Given the description of an element on the screen output the (x, y) to click on. 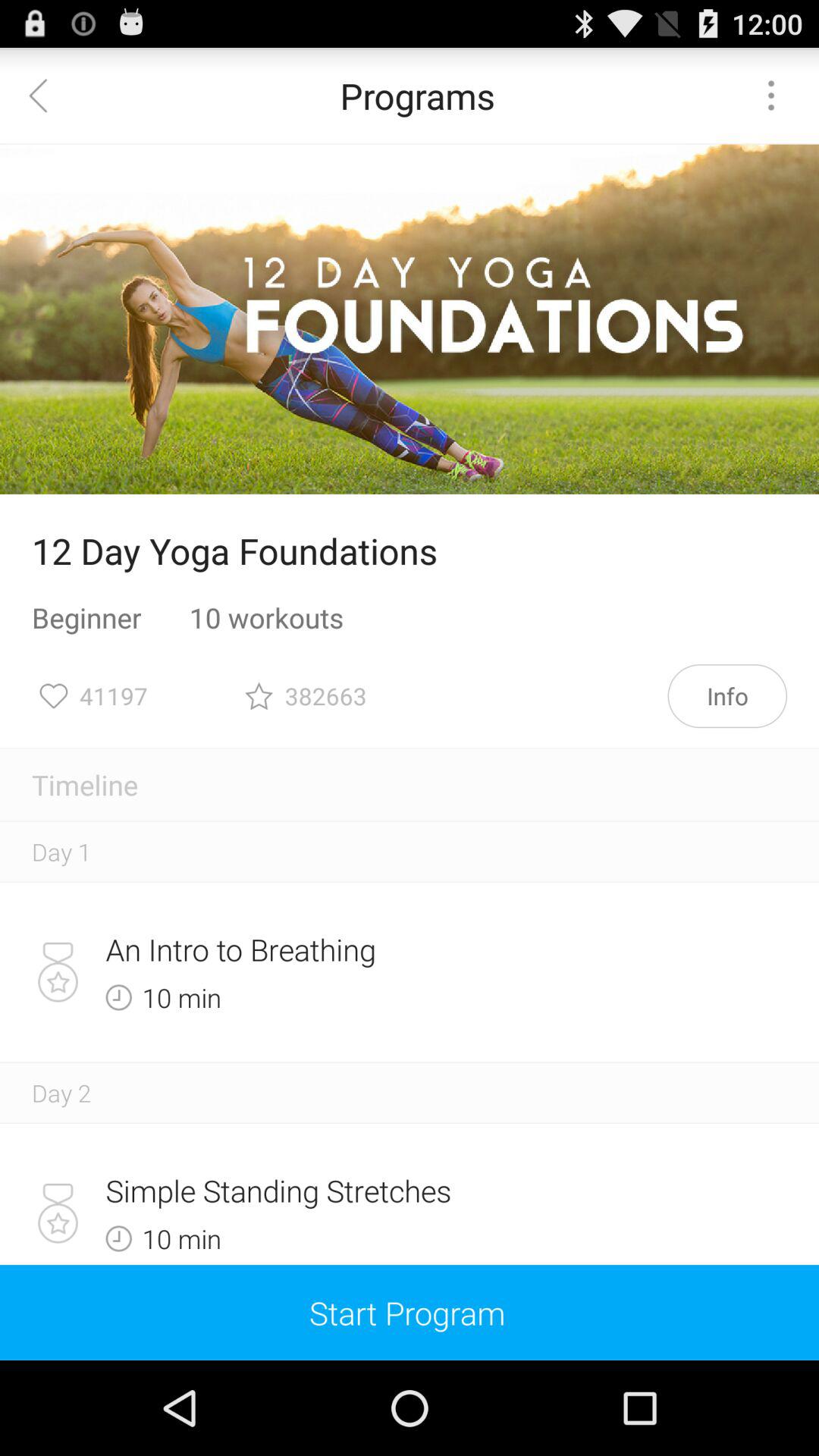
turn on item at the top right corner (771, 95)
